Given the description of an element on the screen output the (x, y) to click on. 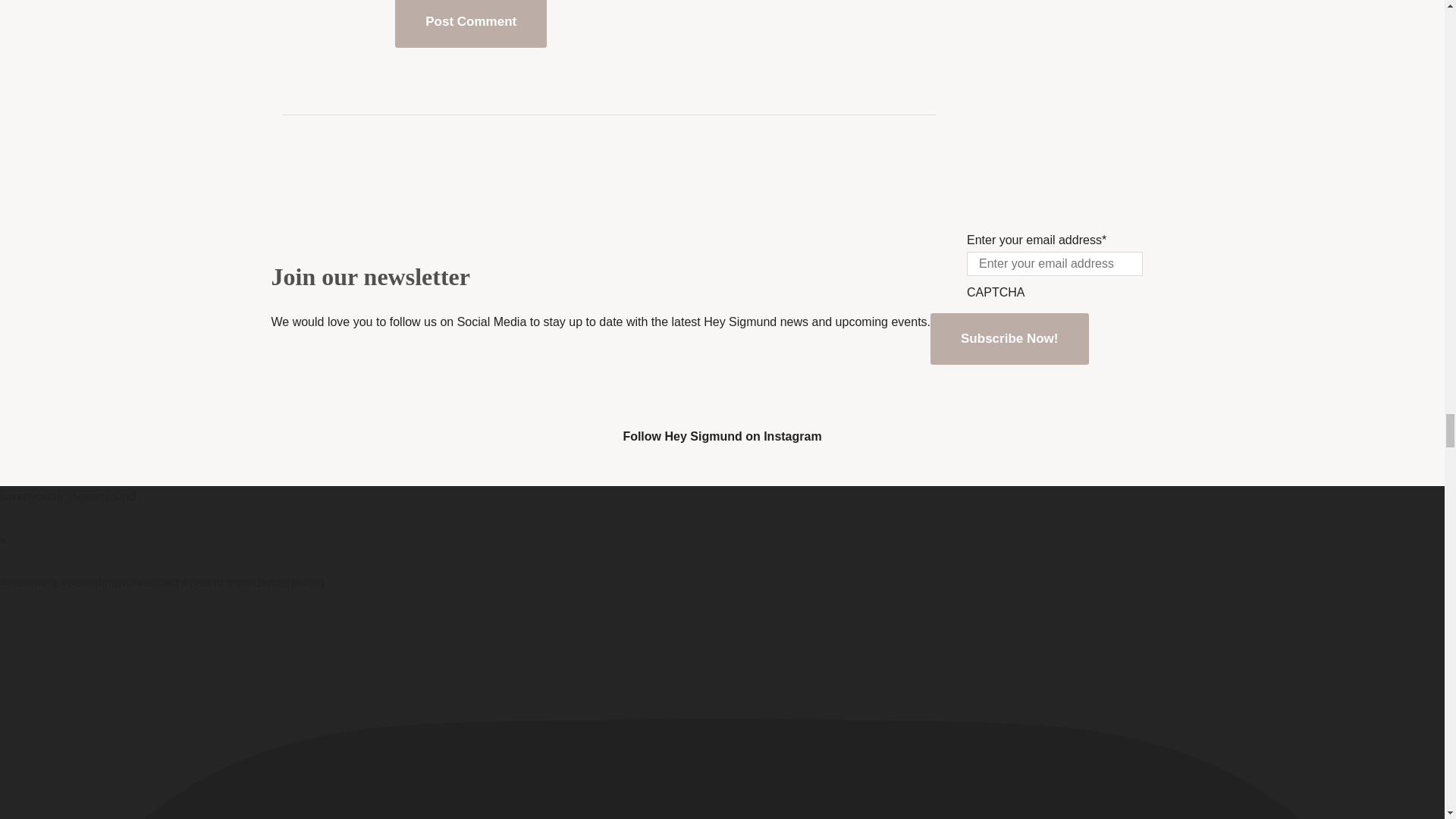
Subscribe Now! (1008, 338)
Post Comment (470, 23)
